Given the description of an element on the screen output the (x, y) to click on. 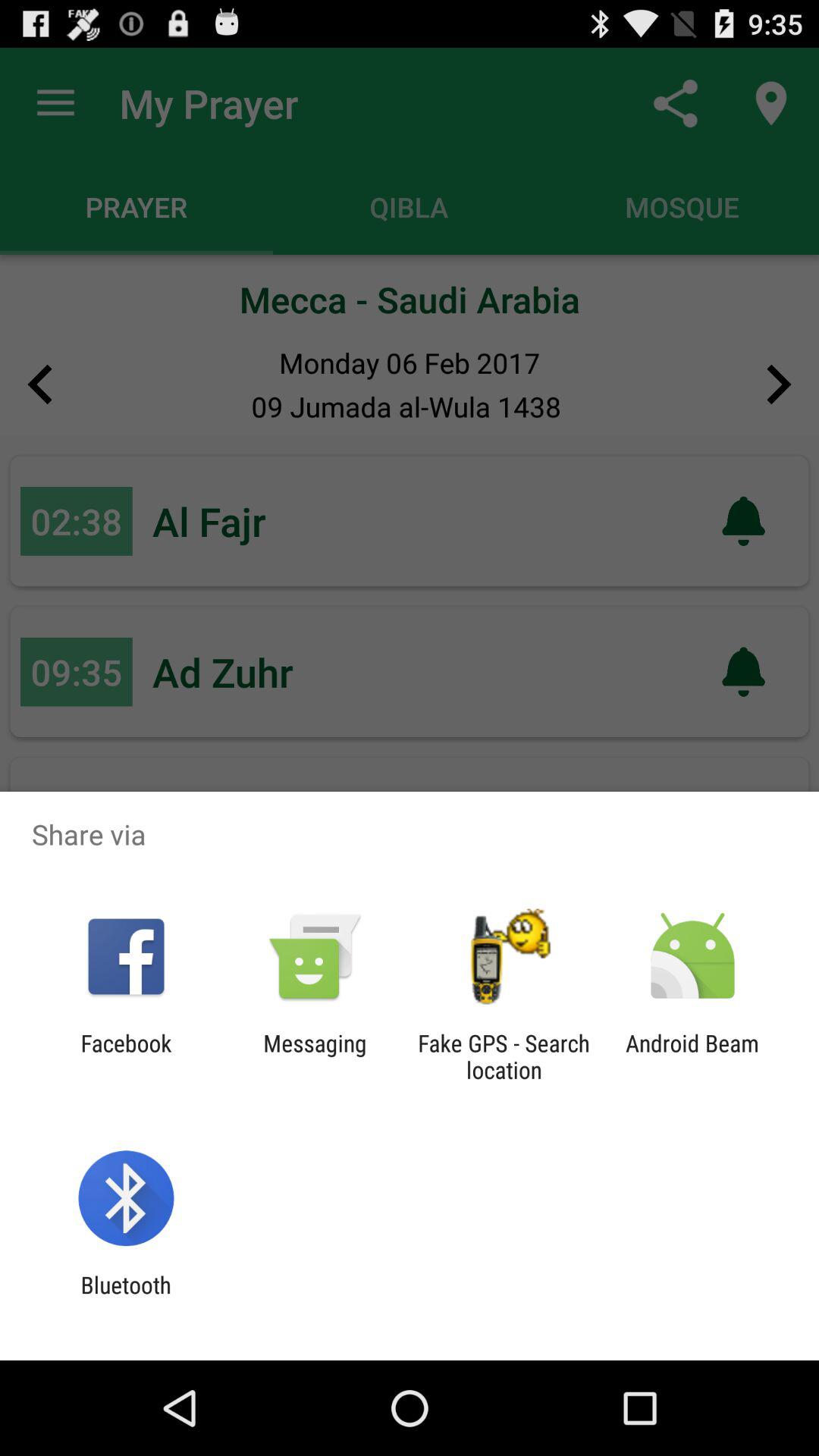
select icon next to the fake gps search (314, 1056)
